Given the description of an element on the screen output the (x, y) to click on. 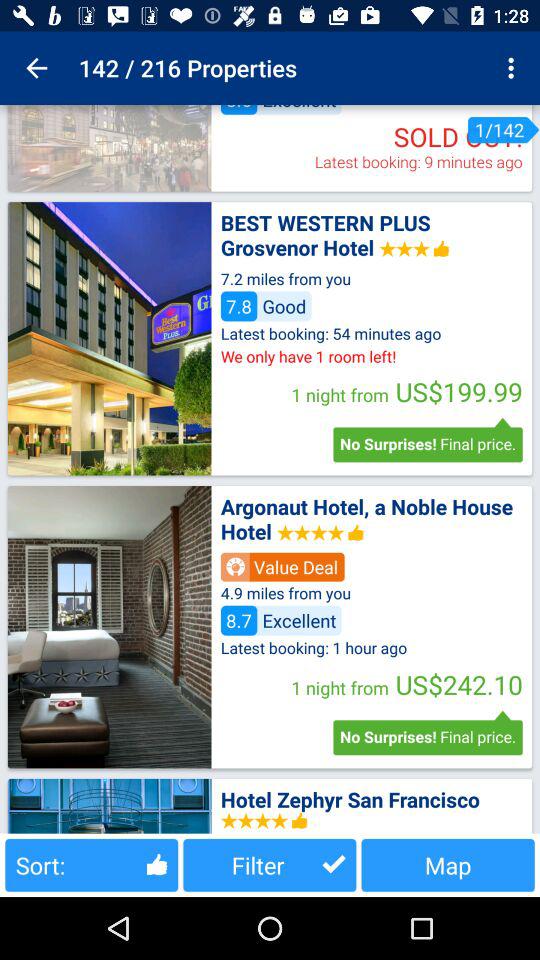
opens more details about selected hotel (109, 338)
